Given the description of an element on the screen output the (x, y) to click on. 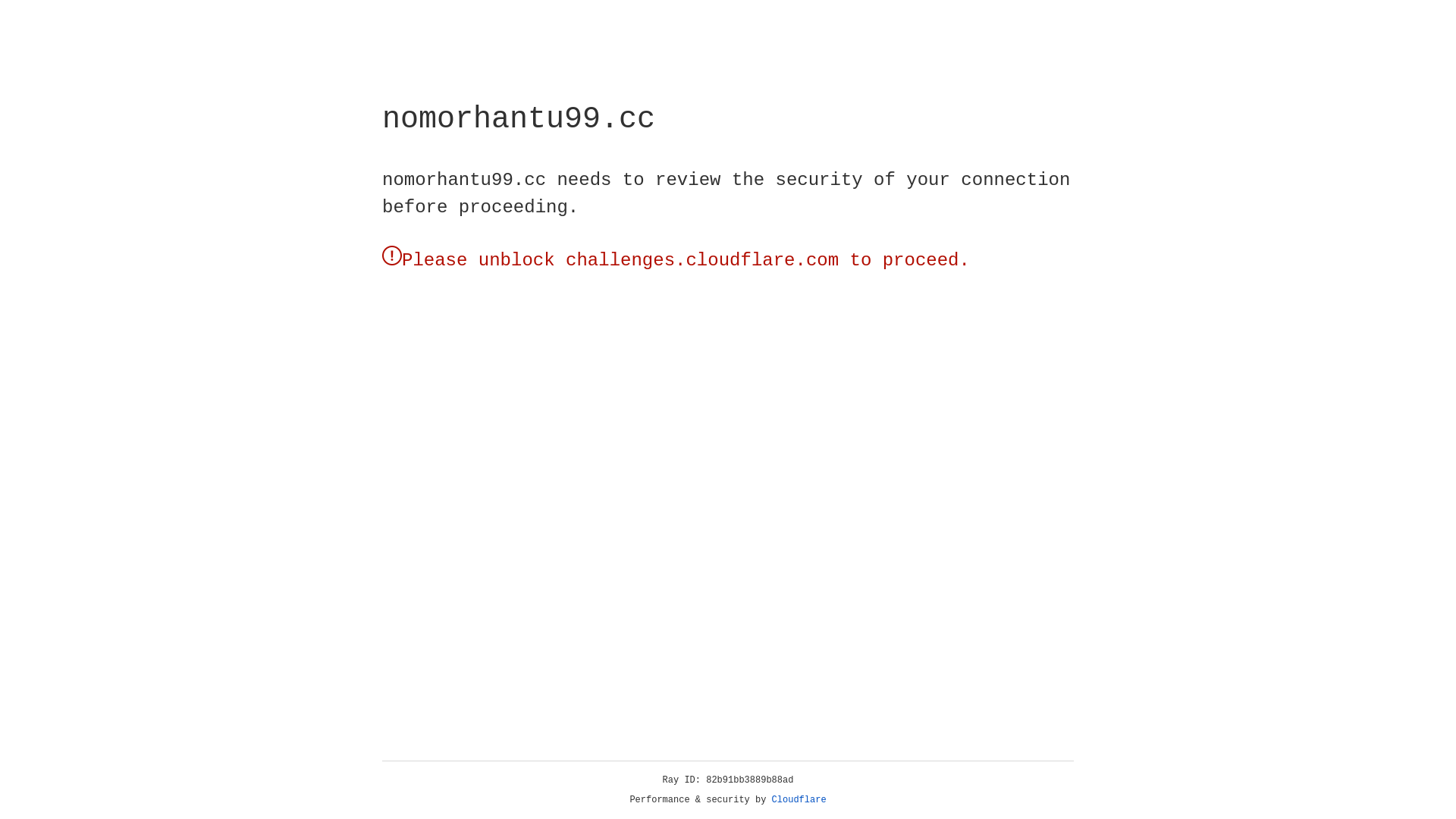
Cloudflare Element type: text (798, 799)
